Given the description of an element on the screen output the (x, y) to click on. 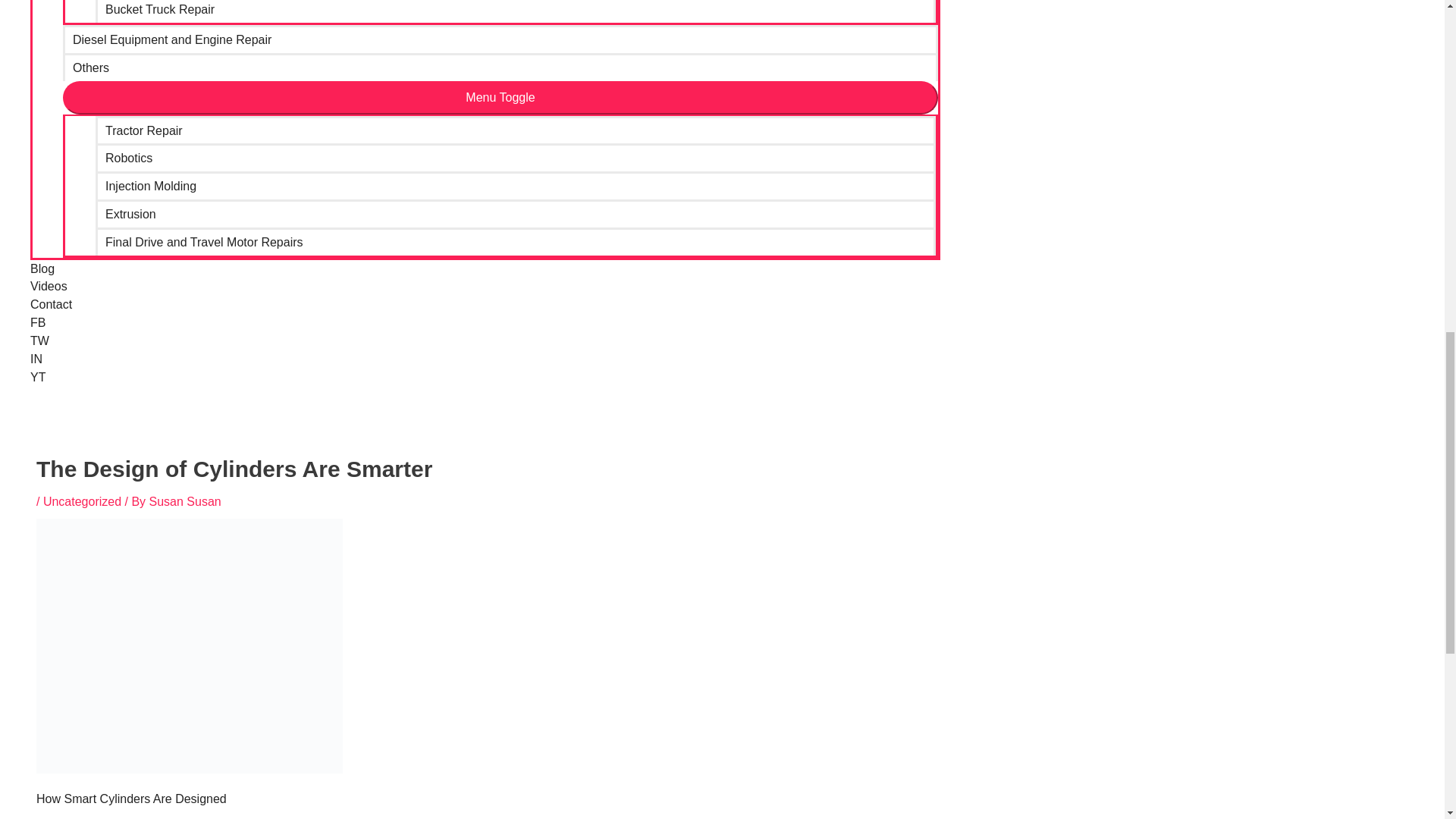
Videos (485, 286)
Extrusion (516, 213)
Injection Molding (516, 185)
Others (499, 67)
Menu Toggle (499, 97)
FB (485, 322)
Blog (485, 269)
Tractor Repair (516, 129)
View all posts by Susan Susan (185, 501)
Diesel Equipment and Engine Repair (499, 39)
Final Drive and Travel Motor Repairs (516, 241)
Contact (485, 304)
Bucket Truck Repair (516, 11)
Robotics (516, 157)
